Given the description of an element on the screen output the (x, y) to click on. 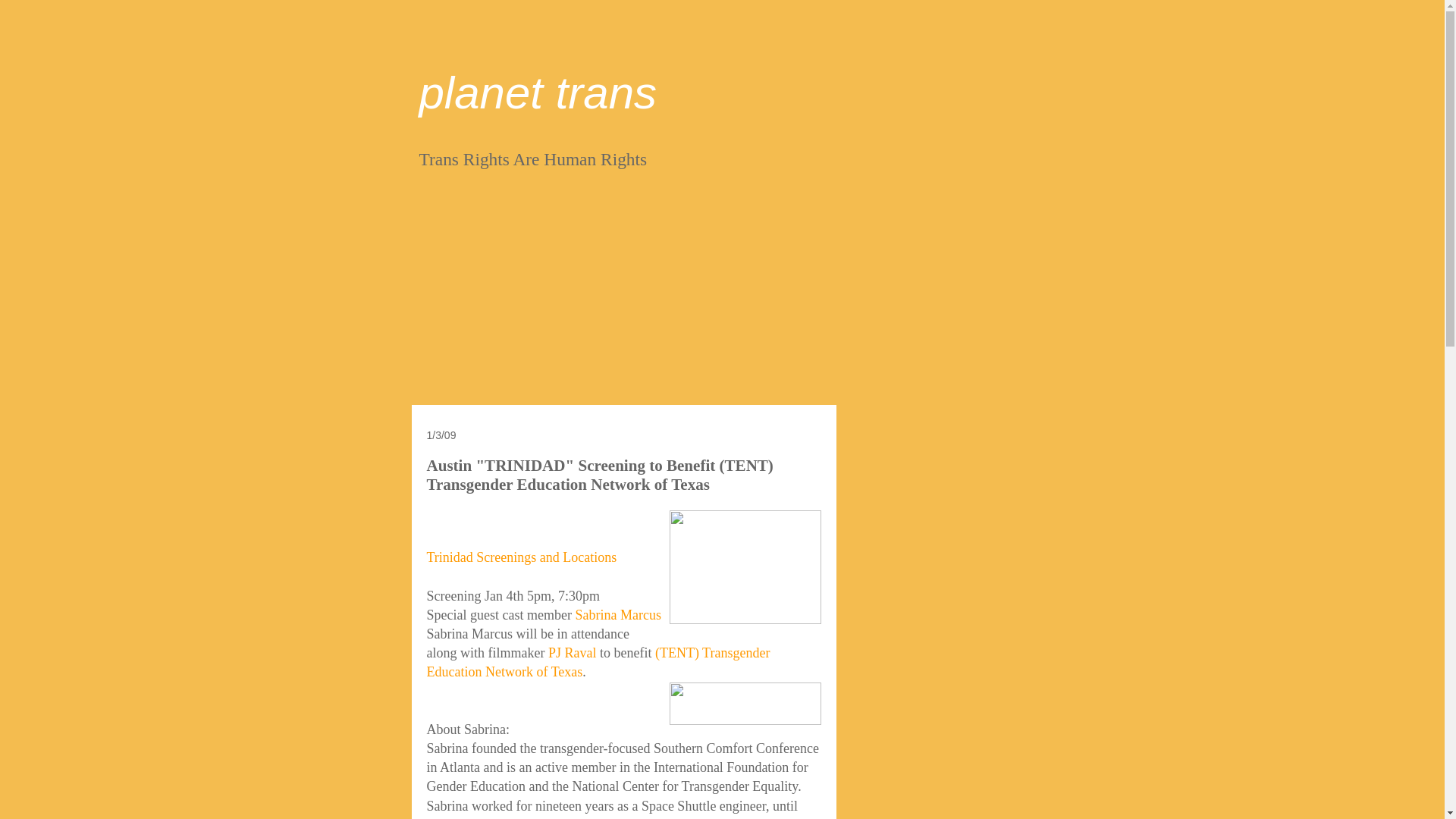
Sabrina Marcus (618, 614)
Trinidad Screenings and Locations (520, 557)
planet trans (537, 92)
PJ Raval (572, 652)
